Given the description of an element on the screen output the (x, y) to click on. 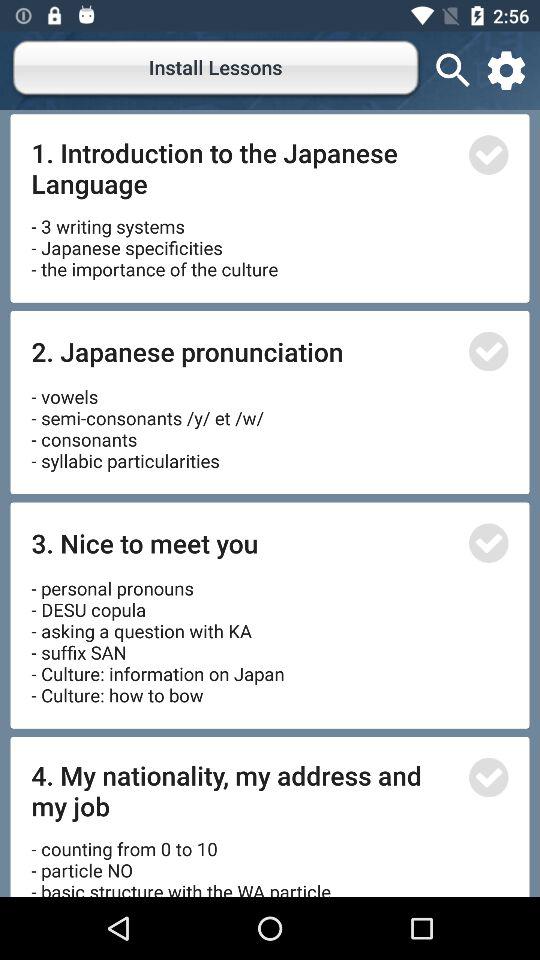
open the 3 writing systems (154, 240)
